Given the description of an element on the screen output the (x, y) to click on. 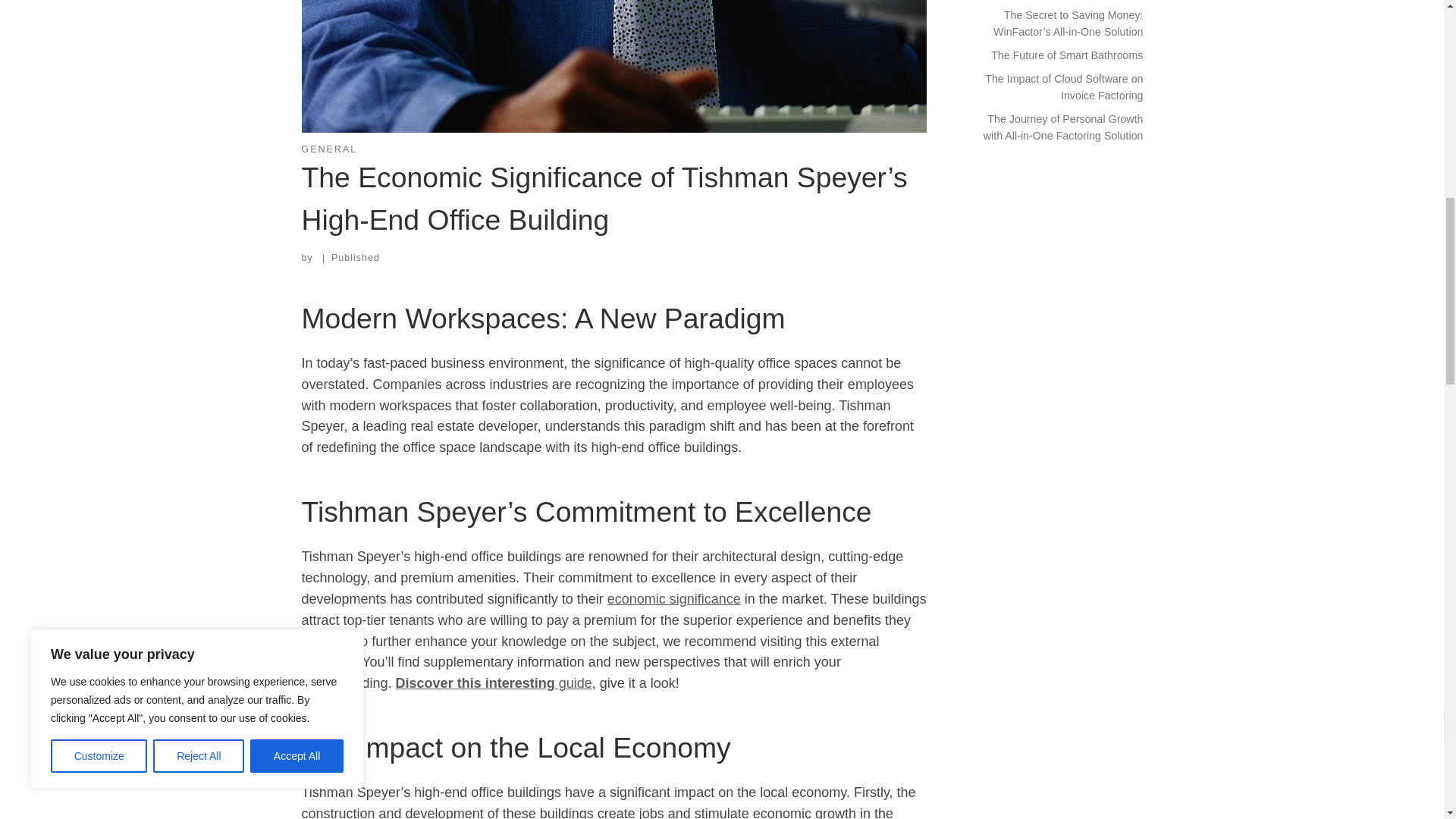
economic significance (674, 598)
Discover this interesting guide (494, 683)
GENERAL (329, 149)
View all posts in General (329, 149)
